Given the description of an element on the screen output the (x, y) to click on. 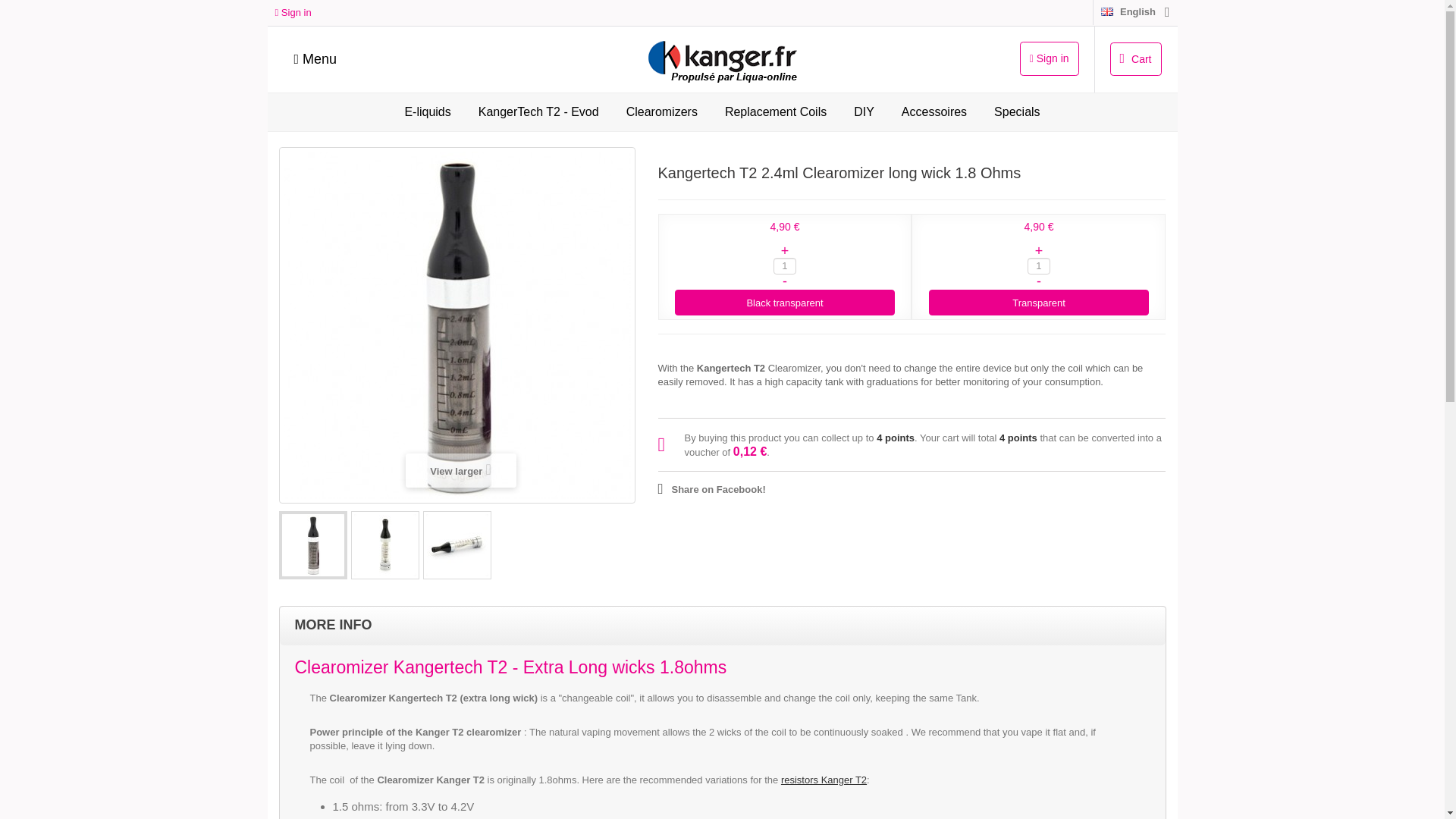
Log in to your customer account (292, 12)
Accessoires (933, 112)
Sign in (292, 12)
Sign in (1049, 58)
Cart (1135, 59)
Transparent (1039, 302)
E-liquids (427, 112)
Menu (315, 58)
1 (1038, 265)
Black transparent (785, 302)
